Given the description of an element on the screen output the (x, y) to click on. 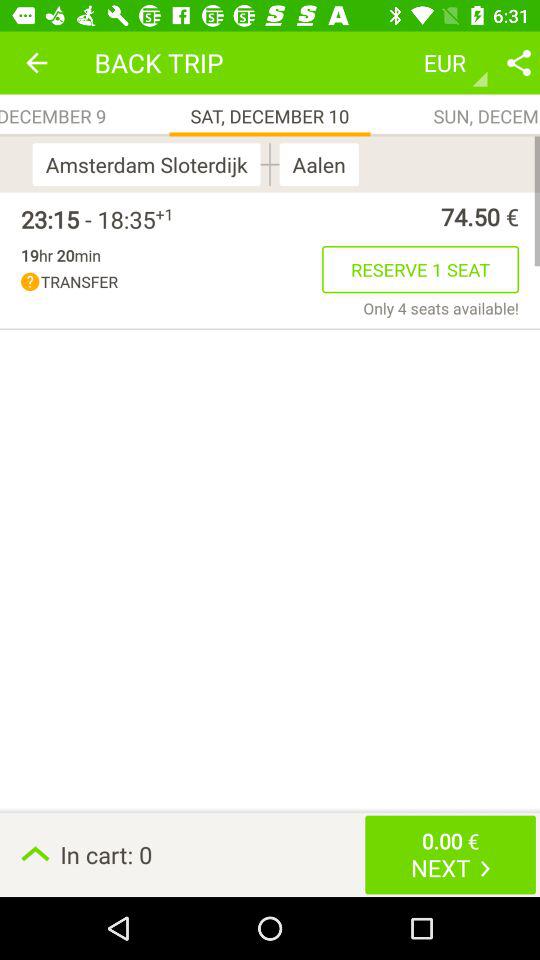
turn on the item above reserve 1 seat icon (346, 216)
